Given the description of an element on the screen output the (x, y) to click on. 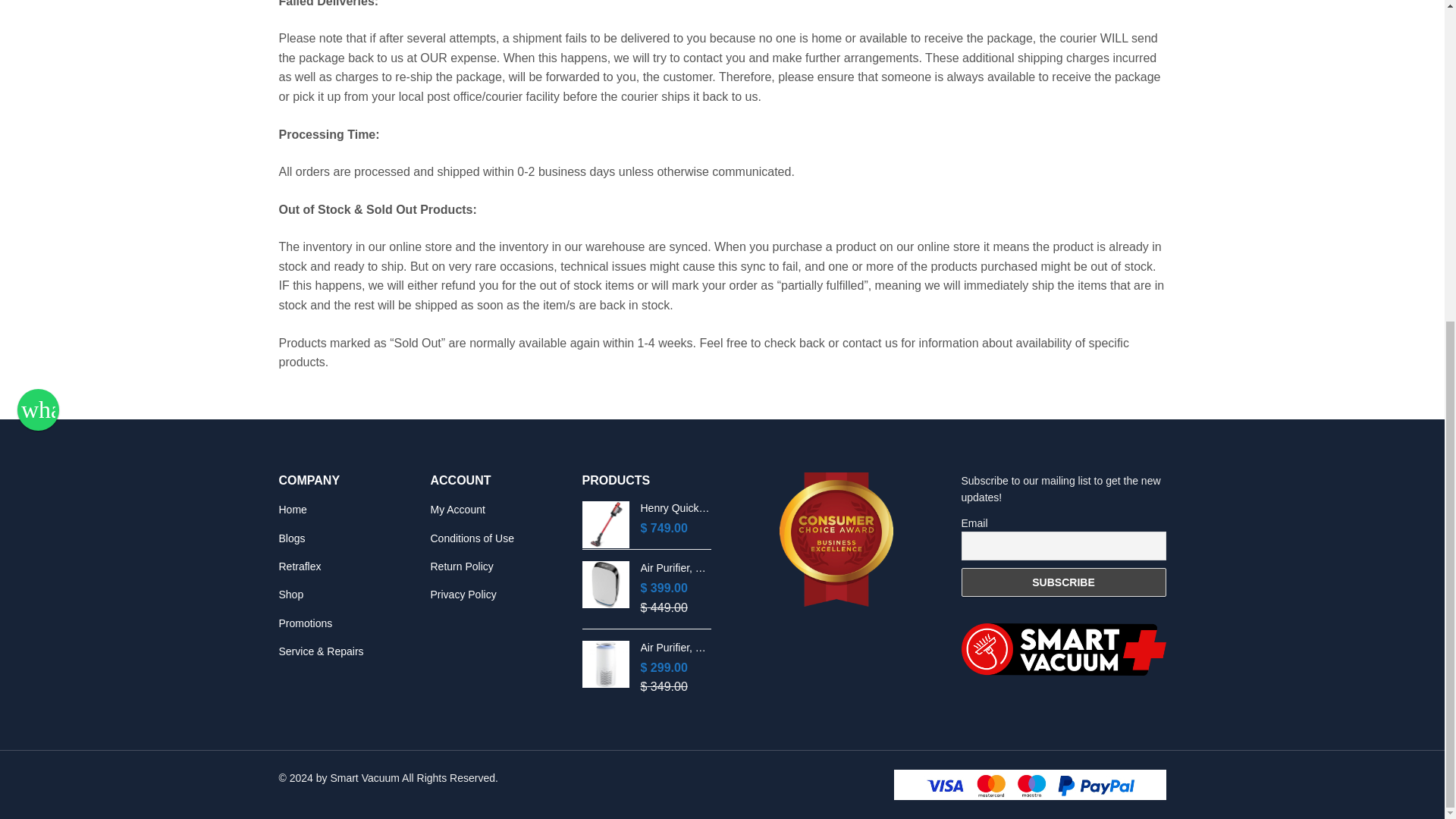
Subscribe (1063, 582)
